Given the description of an element on the screen output the (x, y) to click on. 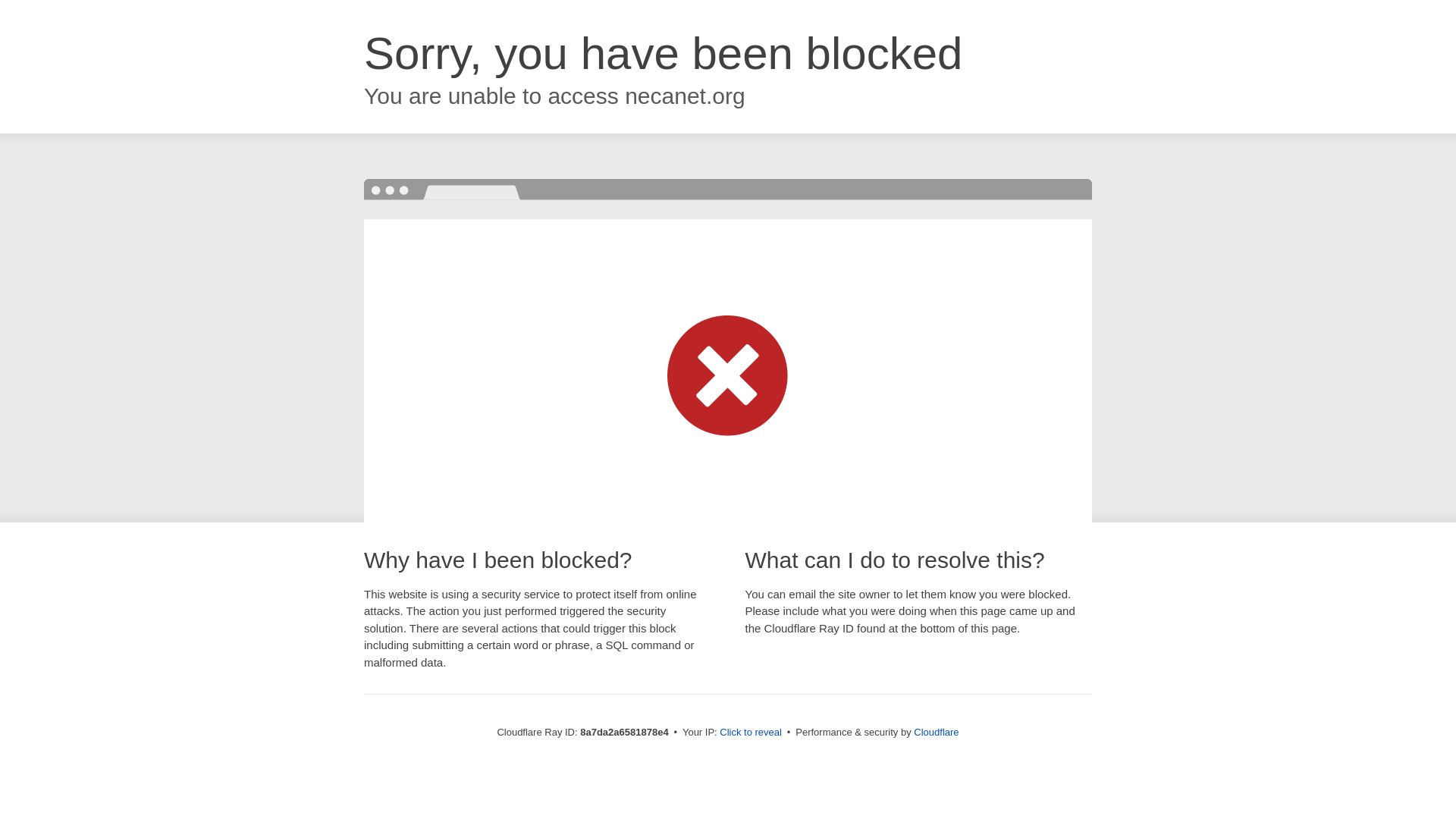
Cloudflare (936, 731)
Click to reveal (750, 732)
